Given the description of an element on the screen output the (x, y) to click on. 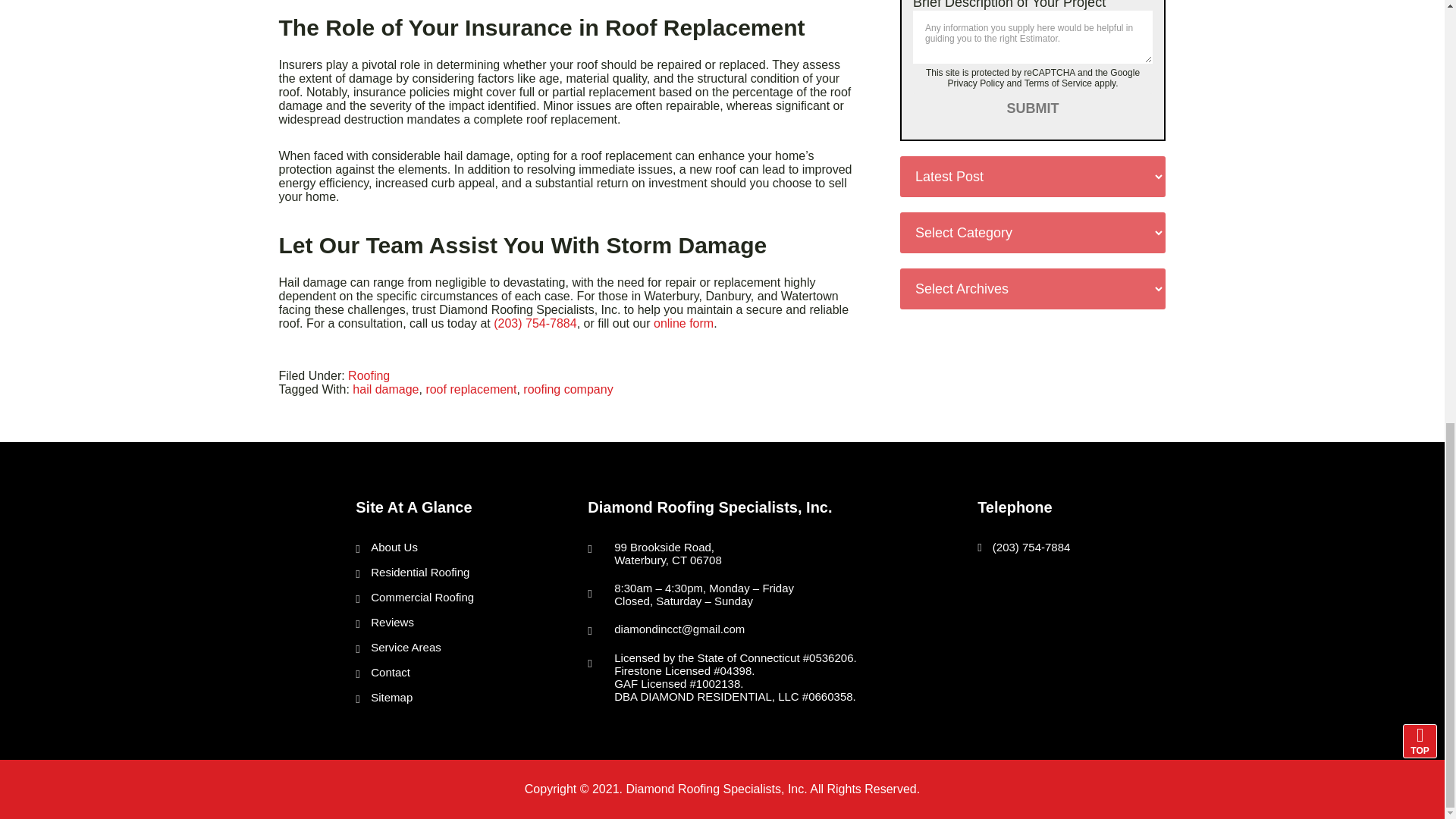
Submit (1032, 108)
